Given the description of an element on the screen output the (x, y) to click on. 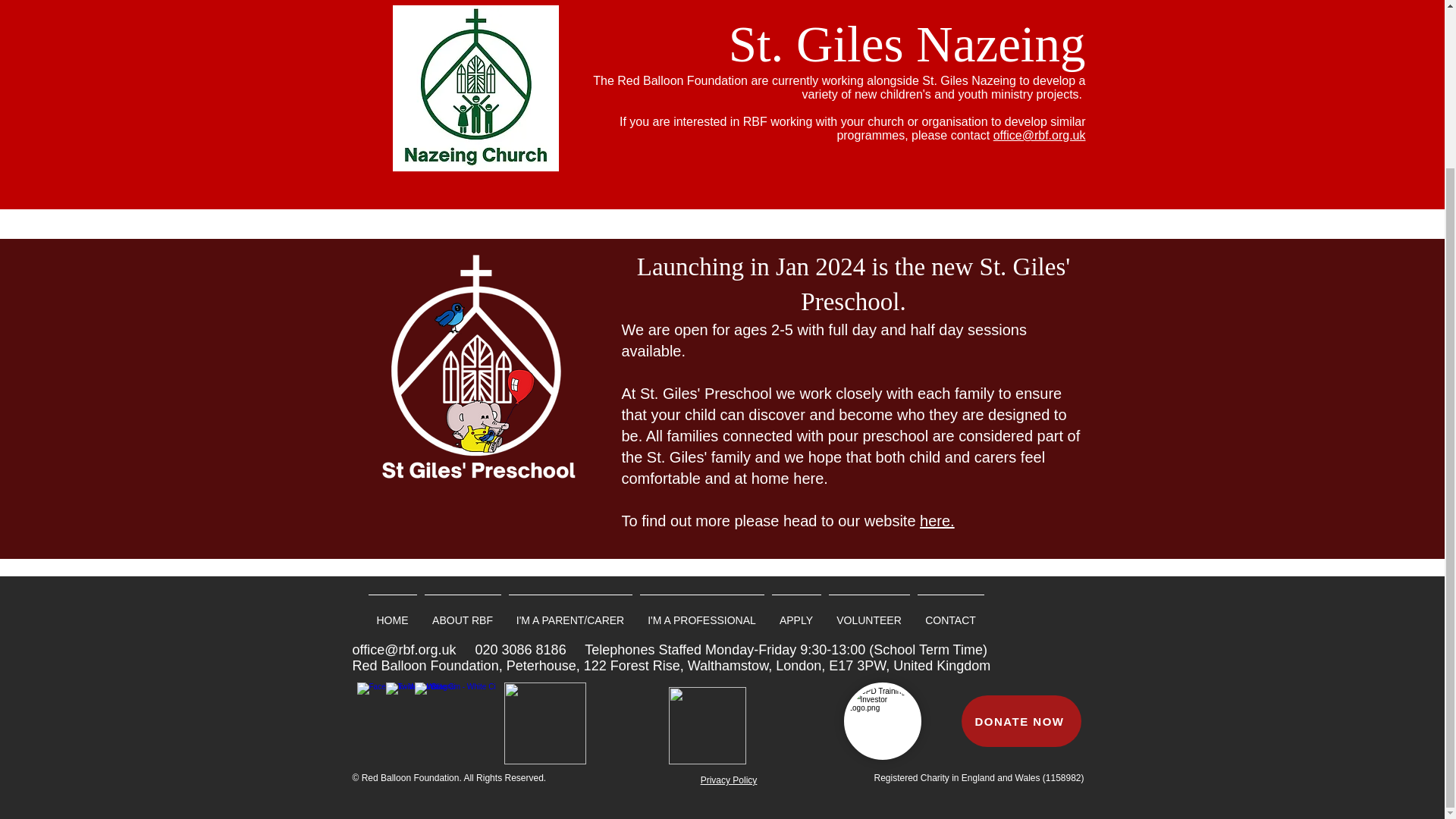
VOLUNTEER (869, 613)
HOME (392, 613)
CONTACT (949, 613)
I'M A PROFESSIONAL (700, 613)
Privacy Policy (728, 779)
DONATE NOW (1020, 720)
ABOUT RBF (461, 613)
APPLY (795, 613)
here. (937, 520)
classdojo-school-badge.png (544, 723)
